Given the description of an element on the screen output the (x, y) to click on. 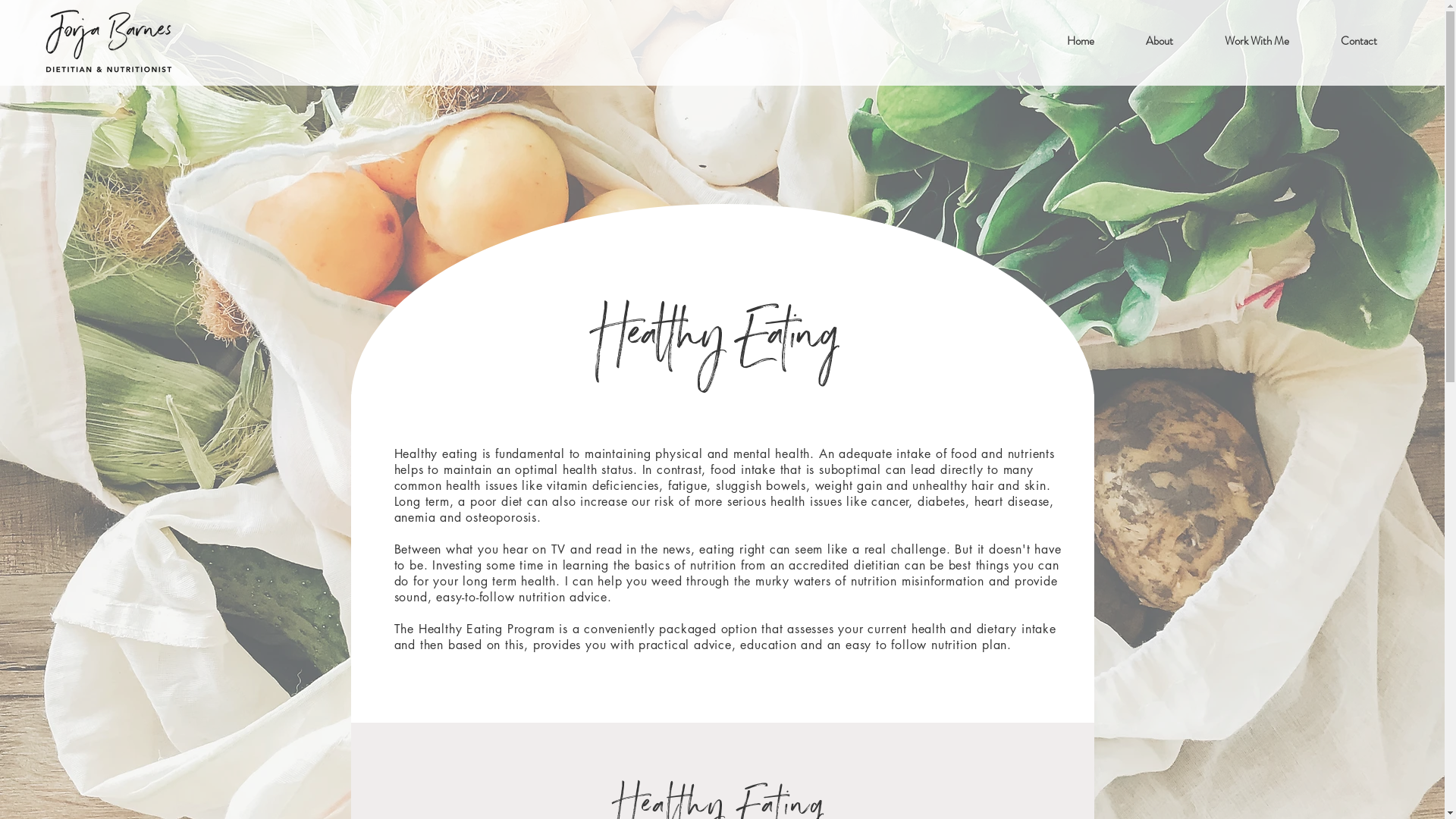
Work With Me Element type: text (1256, 40)
Home Element type: text (1080, 40)
Contact Element type: text (1358, 40)
